Given the description of an element on the screen output the (x, y) to click on. 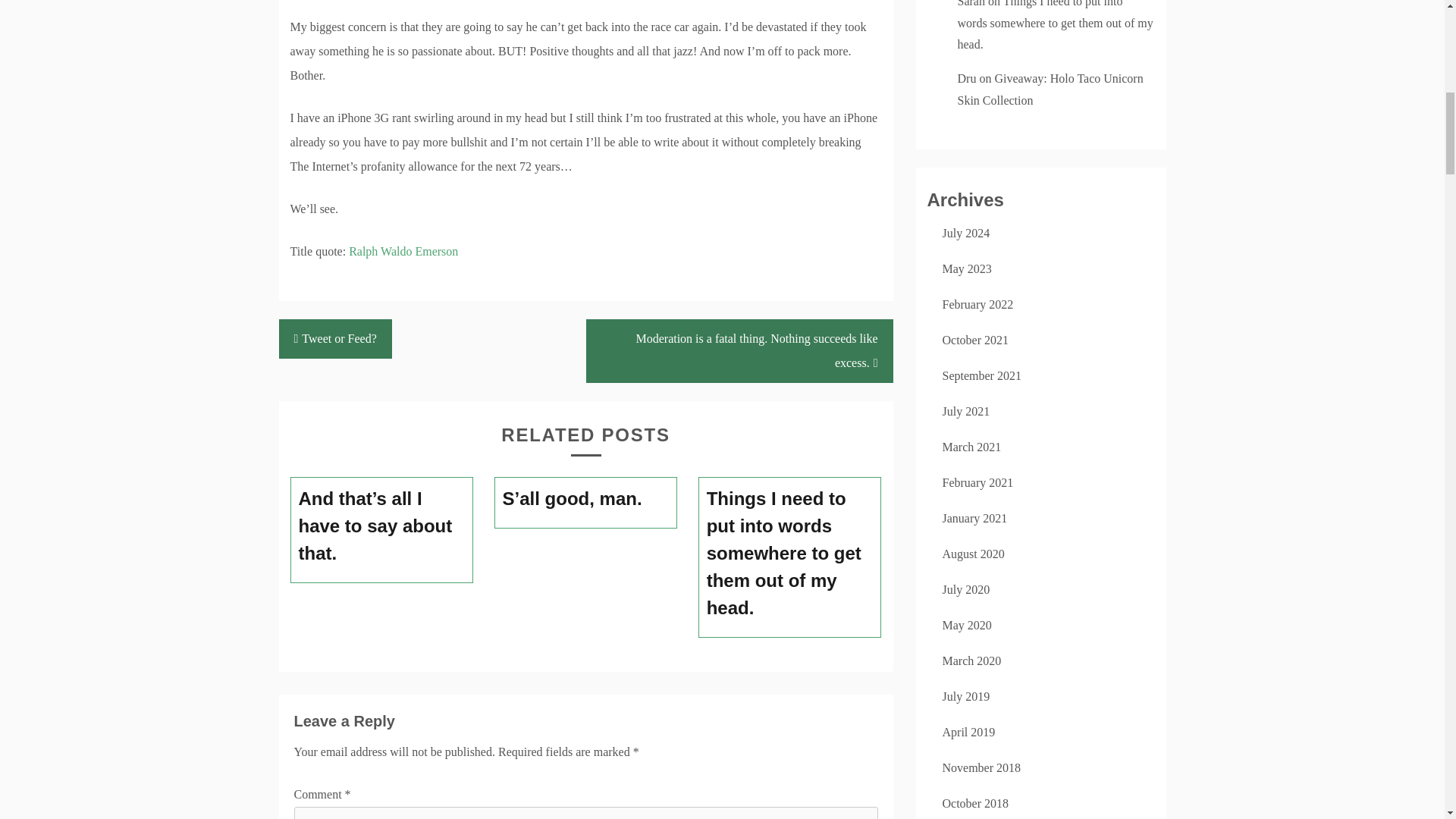
May 2023 (966, 268)
July 2024 (966, 232)
August 2020 (973, 553)
September 2021 (981, 375)
February 2021 (977, 481)
Moderation is a fatal thing. Nothing succeeds like excess. (738, 351)
Tweet or Feed? (335, 338)
Giveaway: Holo Taco Unicorn Skin Collection (1049, 89)
October 2021 (975, 339)
